Given the description of an element on the screen output the (x, y) to click on. 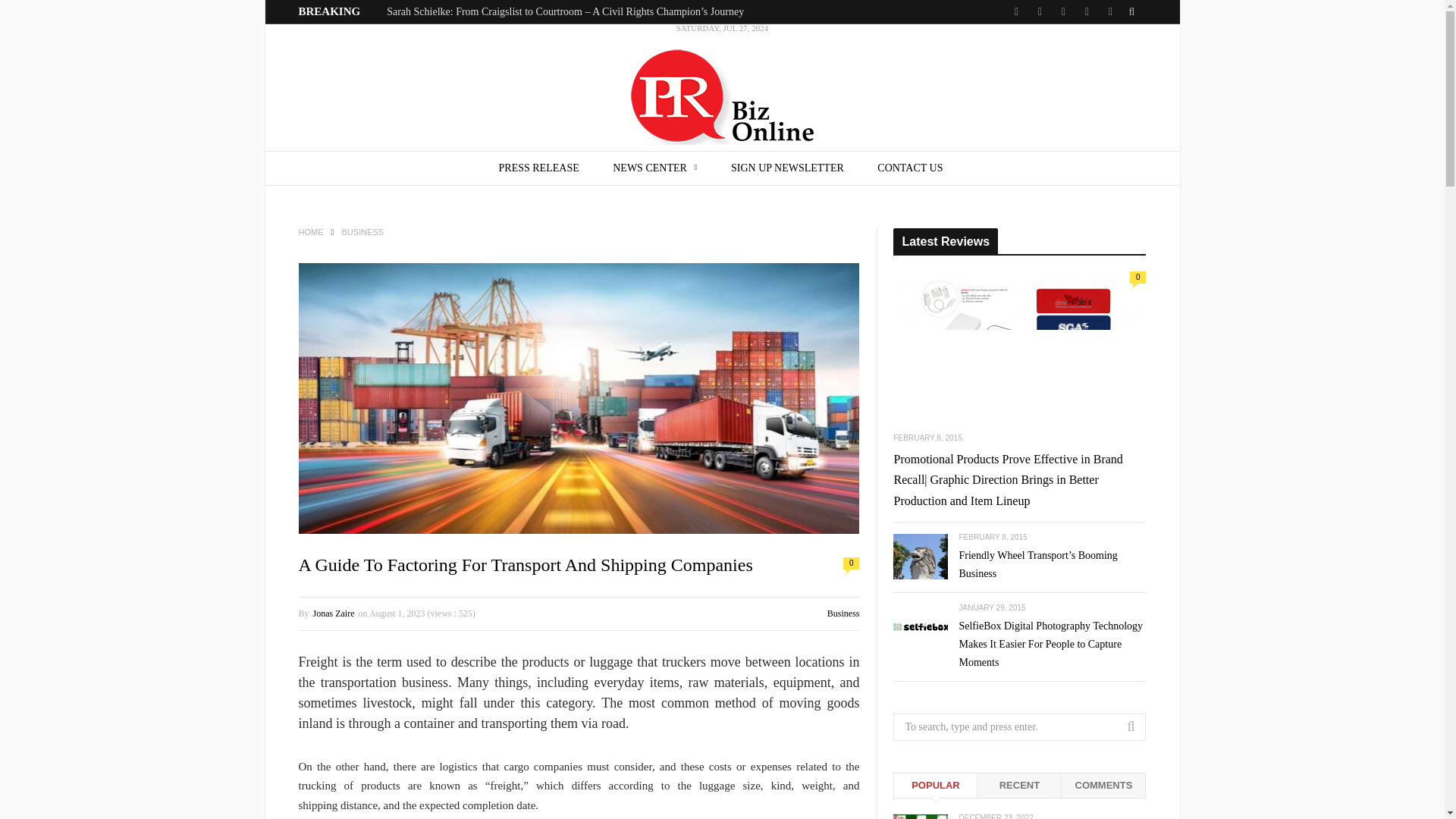
RSS (1109, 11)
Twitter (1015, 11)
Twitter (1015, 11)
Pinterest (1087, 11)
HOME (310, 231)
Jonas Zaire (334, 613)
CONTACT US (909, 167)
Facebook (1039, 11)
Facebook (1039, 11)
Pinterest (1087, 11)
LinkedIn (1062, 11)
RSS (1109, 11)
BUSINESS (363, 231)
SATURDAY, JUL 27, 2024 (721, 87)
PRESS RELEASE (538, 167)
